Given the description of an element on the screen output the (x, y) to click on. 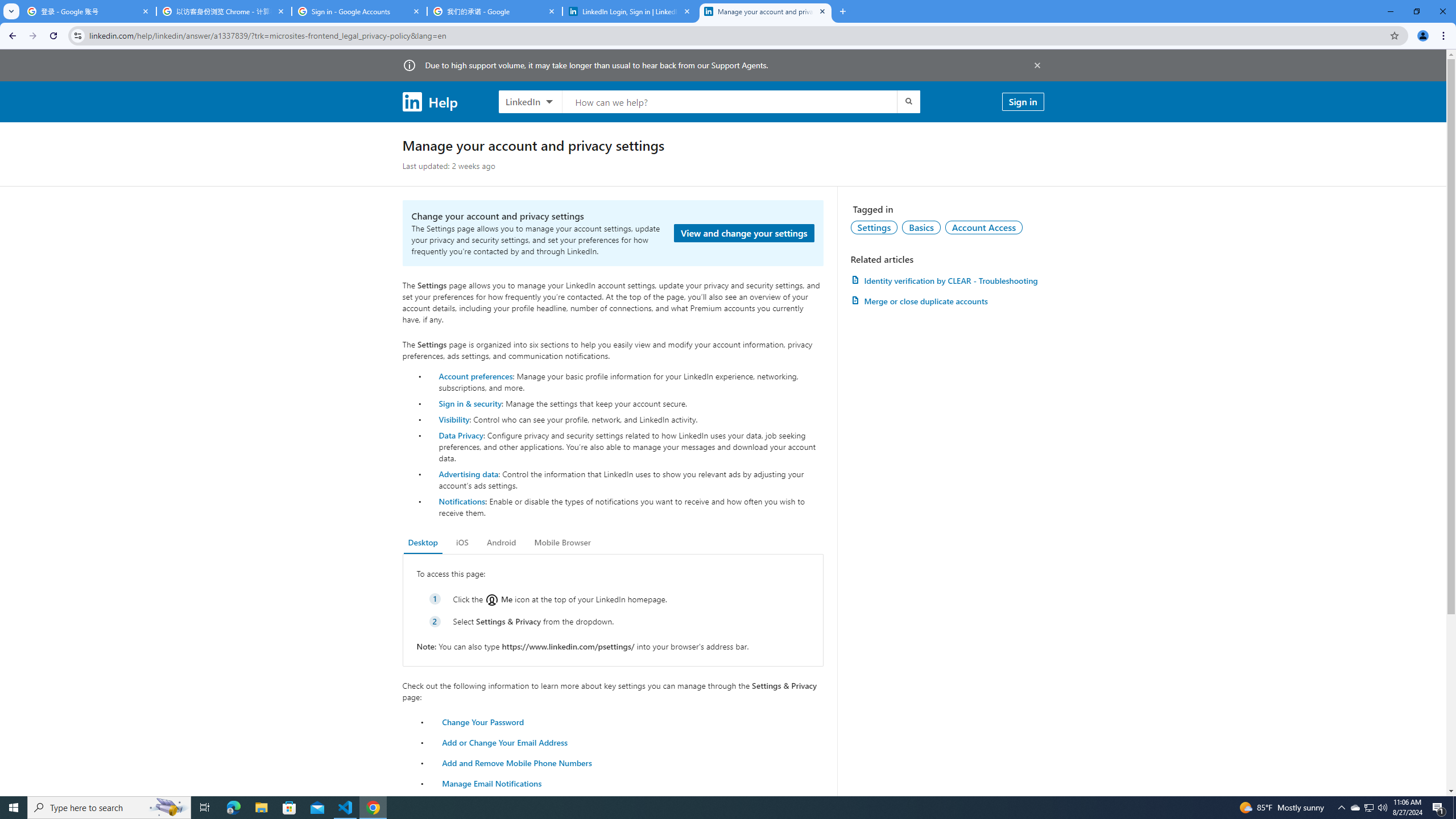
Basics (921, 227)
iOS (462, 542)
AutomationID: topic-link-a151002 (983, 227)
Add and Remove Mobile Phone Numbers (517, 762)
Desktop (422, 542)
Account preferences (475, 375)
AutomationID: topic-link-a149001 (874, 227)
